Given the description of an element on the screen output the (x, y) to click on. 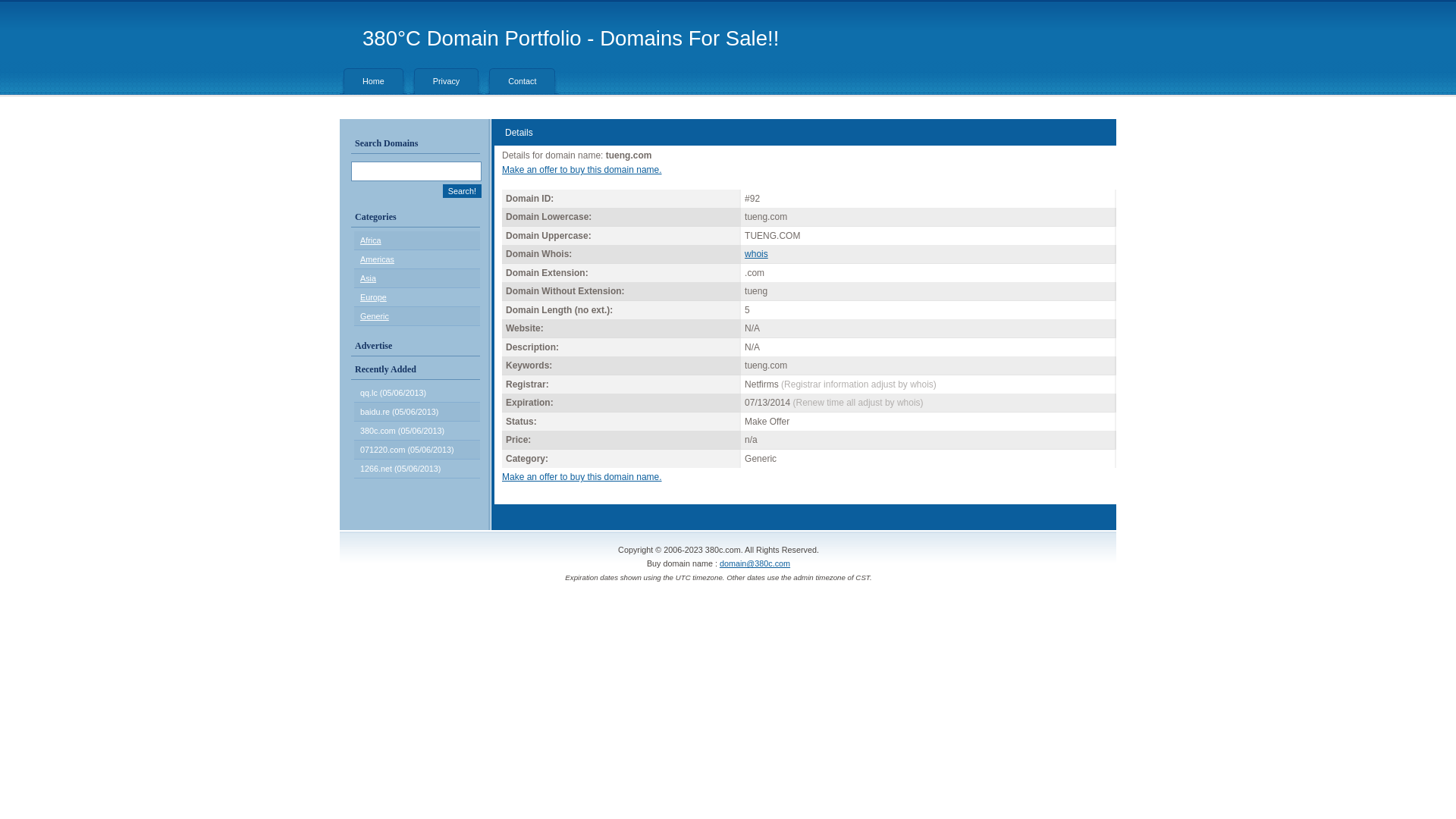
Privacy Element type: text (446, 81)
Contact Element type: text (521, 81)
Home Element type: text (373, 81)
Europe Element type: text (373, 296)
Asia Element type: text (368, 277)
domain@380c.com Element type: text (754, 562)
Make an offer to buy this domain name. Element type: text (582, 476)
whois Element type: text (756, 253)
Generic Element type: text (374, 315)
Africa Element type: text (370, 239)
Make an offer to buy this domain name. Element type: text (582, 169)
Search! Element type: text (461, 190)
Americas Element type: text (377, 258)
